Given the description of an element on the screen output the (x, y) to click on. 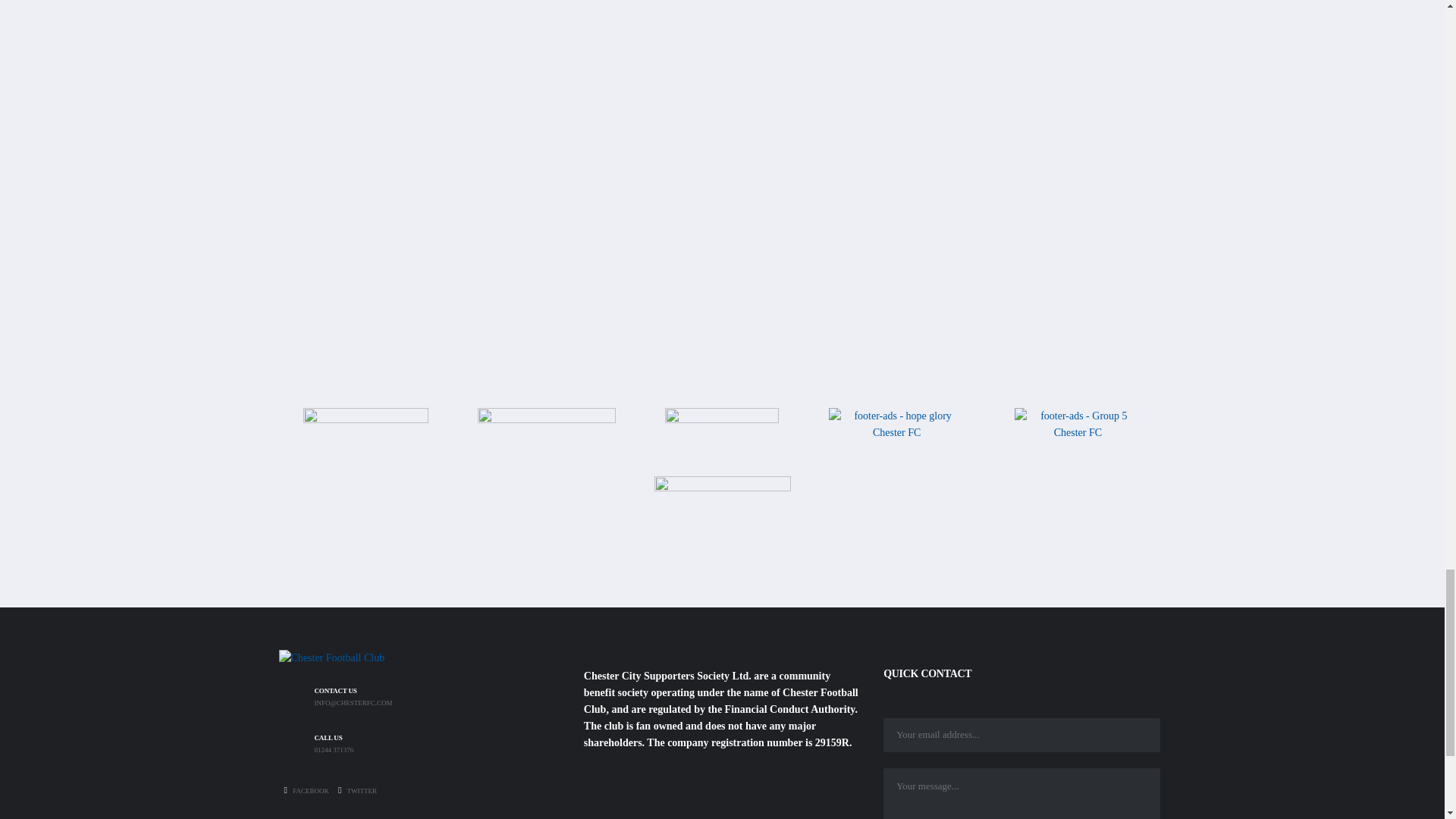
Mars-Jones-Logo-BG (721, 522)
hope glory photo (896, 440)
New-Balance-80 (365, 437)
Group 5 photo (1077, 432)
mbna-2019-1 (546, 438)
Print (721, 440)
